Given the description of an element on the screen output the (x, y) to click on. 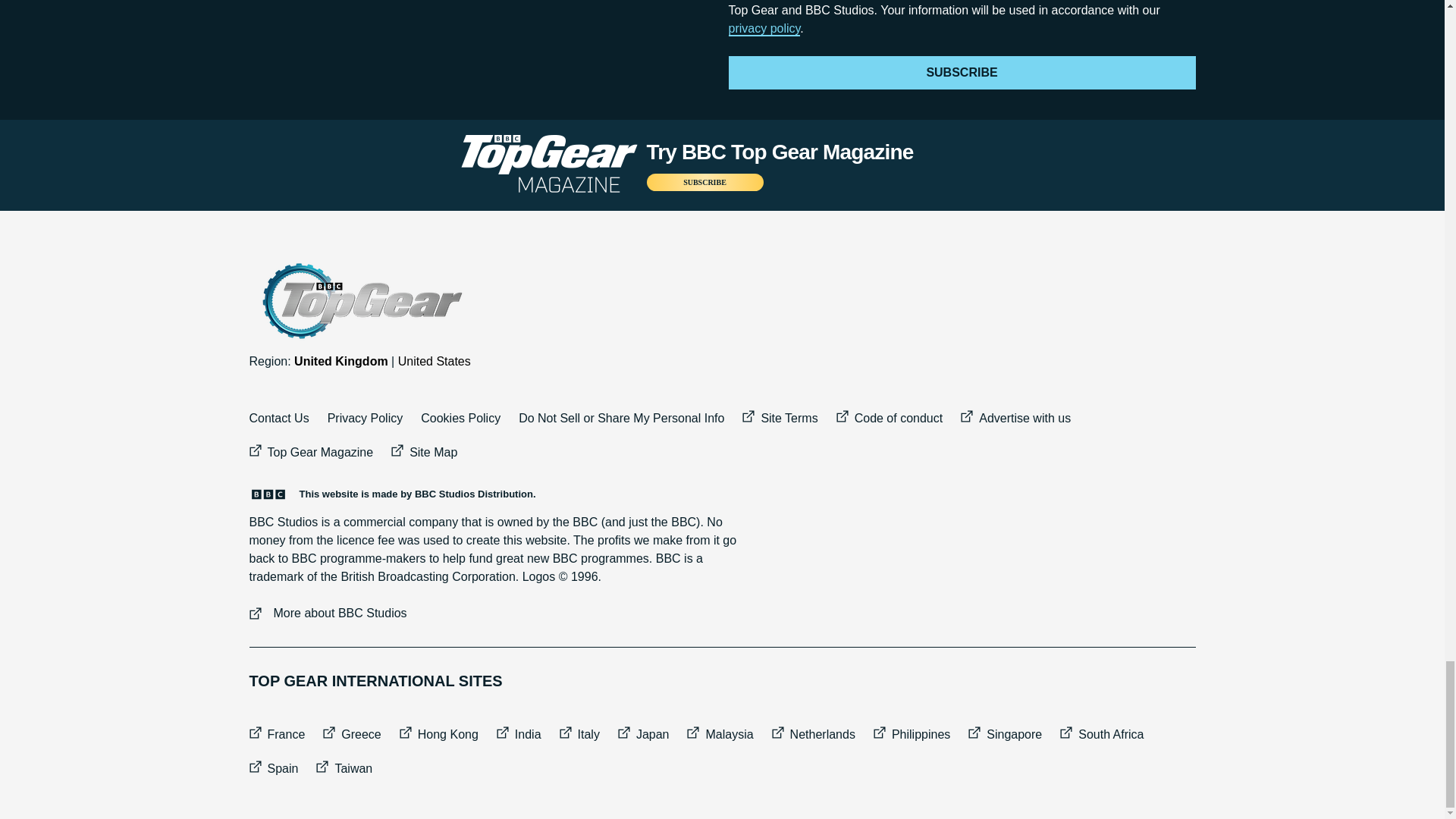
Home (359, 301)
